Given the description of an element on the screen output the (x, y) to click on. 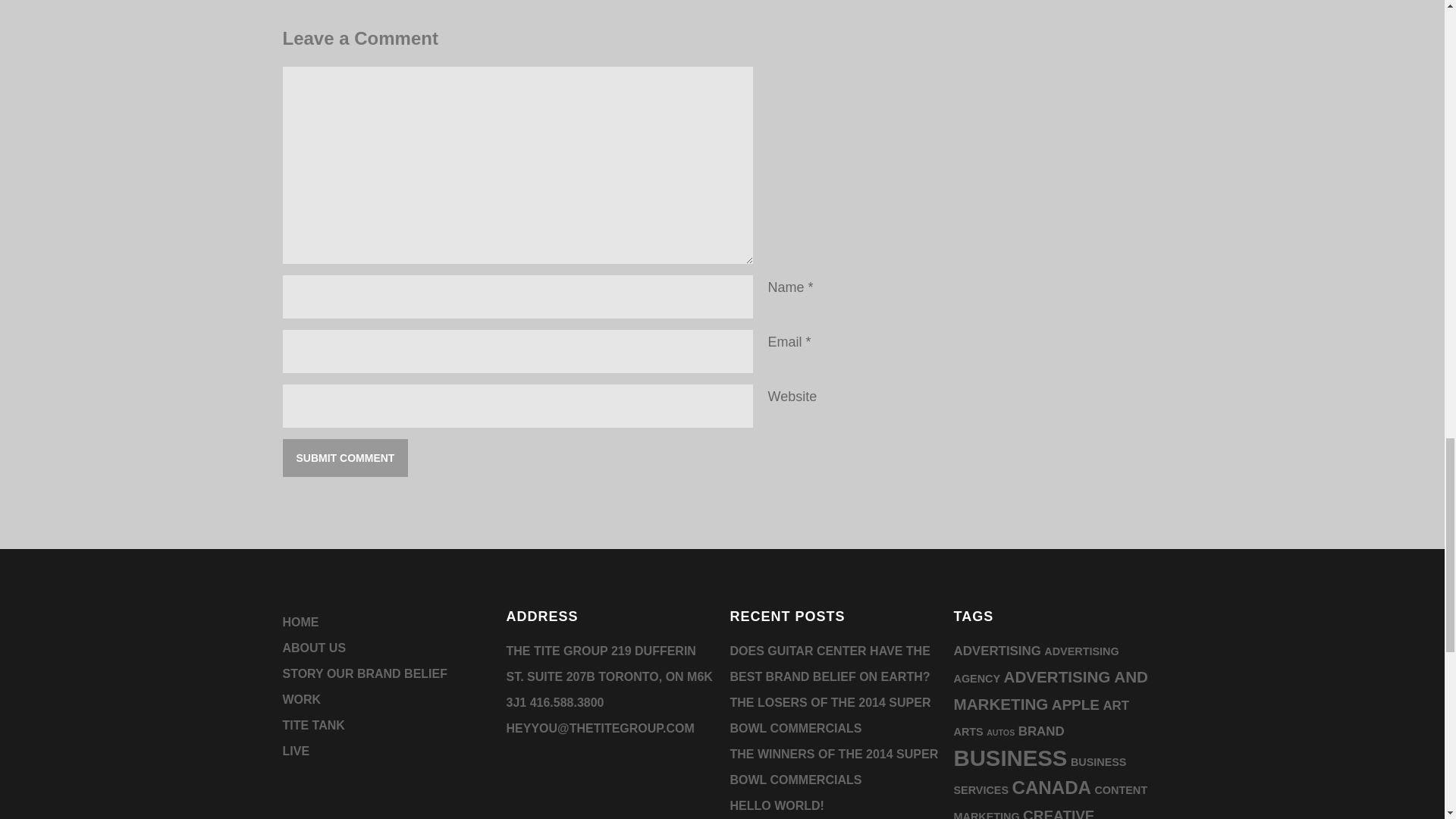
ABOUT US (314, 647)
STORY OUR BRAND BELIEF (364, 673)
THE LOSERS OF THE 2014 SUPER BOWL COMMERCIALS (829, 715)
THE WINNERS OF THE 2014 SUPER BOWL COMMERCIALS (833, 766)
TITE TANK (312, 725)
DOES GUITAR CENTER HAVE THE BEST BRAND BELIEF ON EARTH? (829, 663)
LIVE (295, 750)
ADVERTISING AGENCY (1036, 664)
HOME (300, 621)
Submit Comment (344, 457)
